Given the description of an element on the screen output the (x, y) to click on. 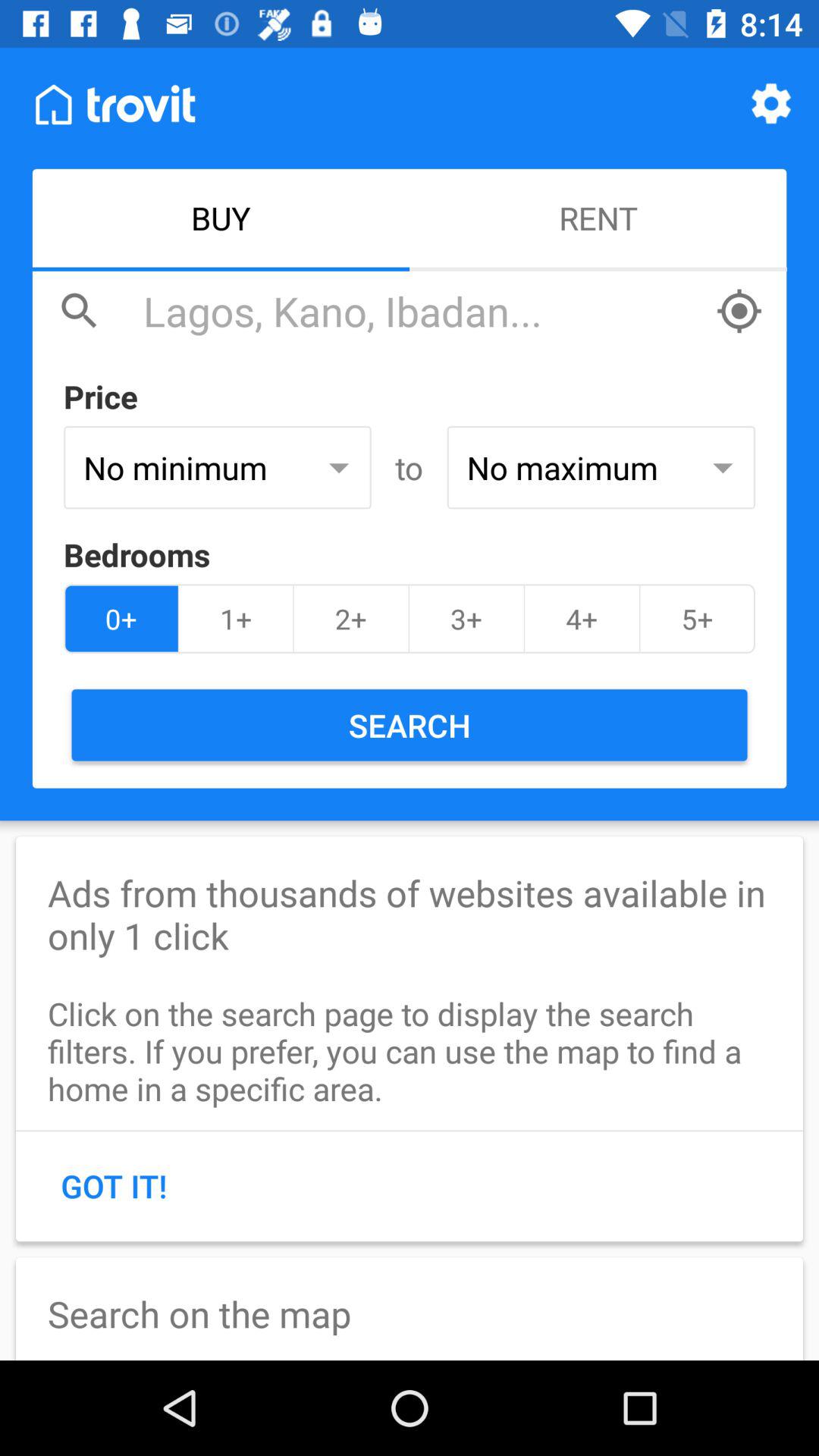
launch got it! at the bottom left corner (113, 1185)
